Given the description of an element on the screen output the (x, y) to click on. 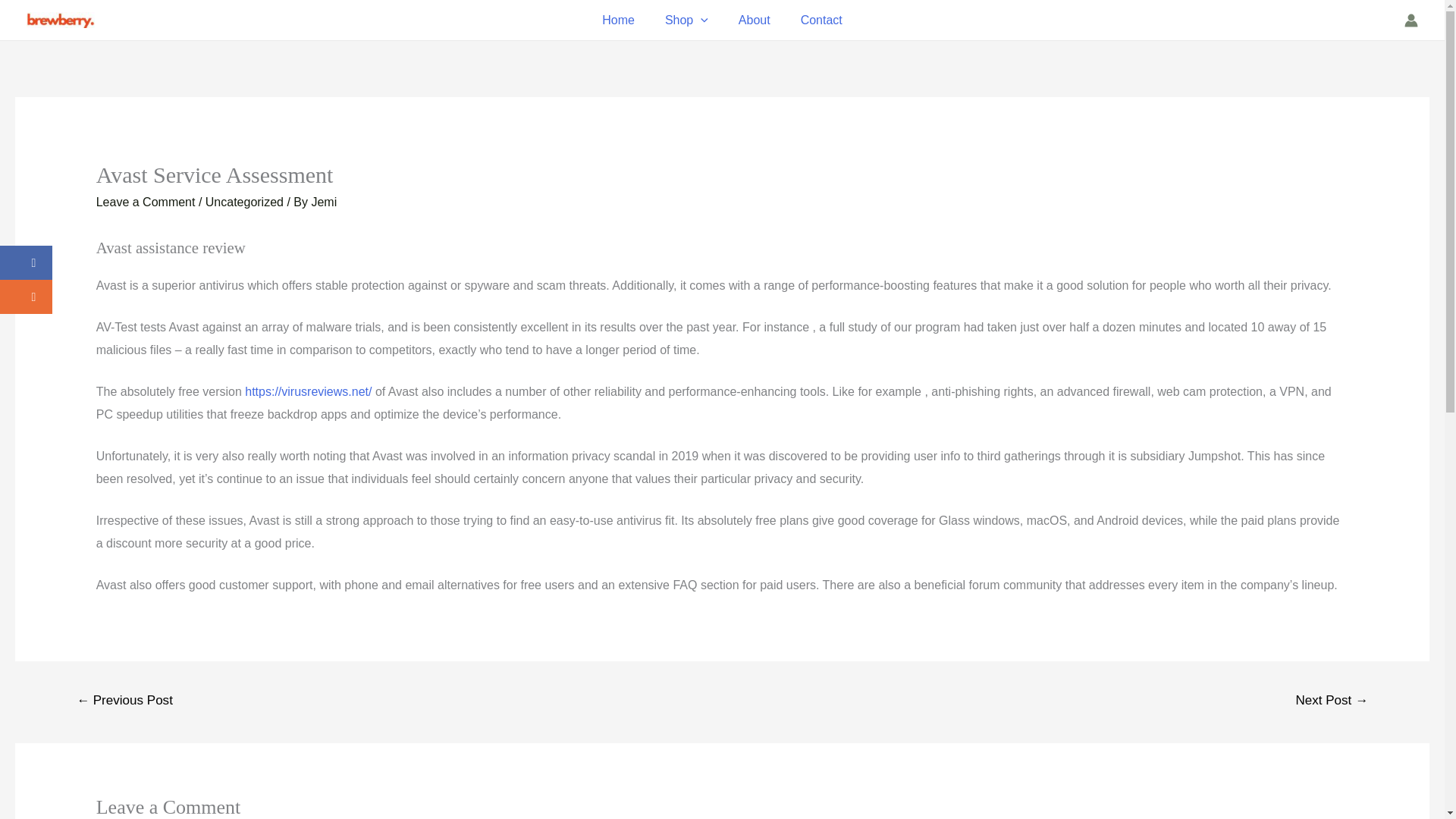
Shop (686, 20)
Jemi (323, 201)
About (754, 20)
Uncategorized (244, 201)
Home (617, 20)
Leave a Comment (145, 201)
View all posts by Jemi (323, 201)
Contact (821, 20)
